Given the description of an element on the screen output the (x, y) to click on. 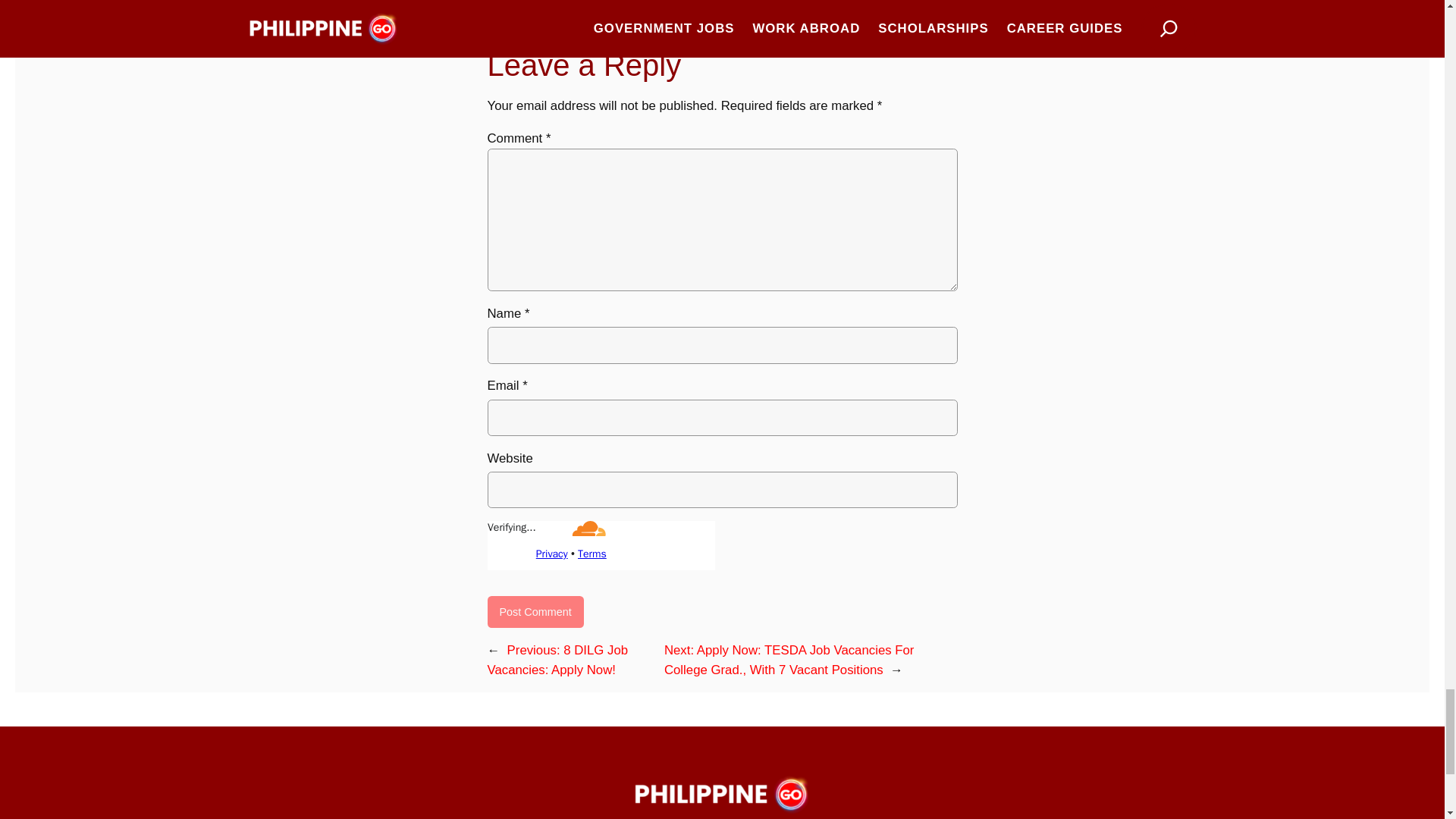
Post Comment (534, 612)
Post Comment (534, 612)
Previous: 8 DILG Job Vacancies: Apply Now! (556, 659)
